Given the description of an element on the screen output the (x, y) to click on. 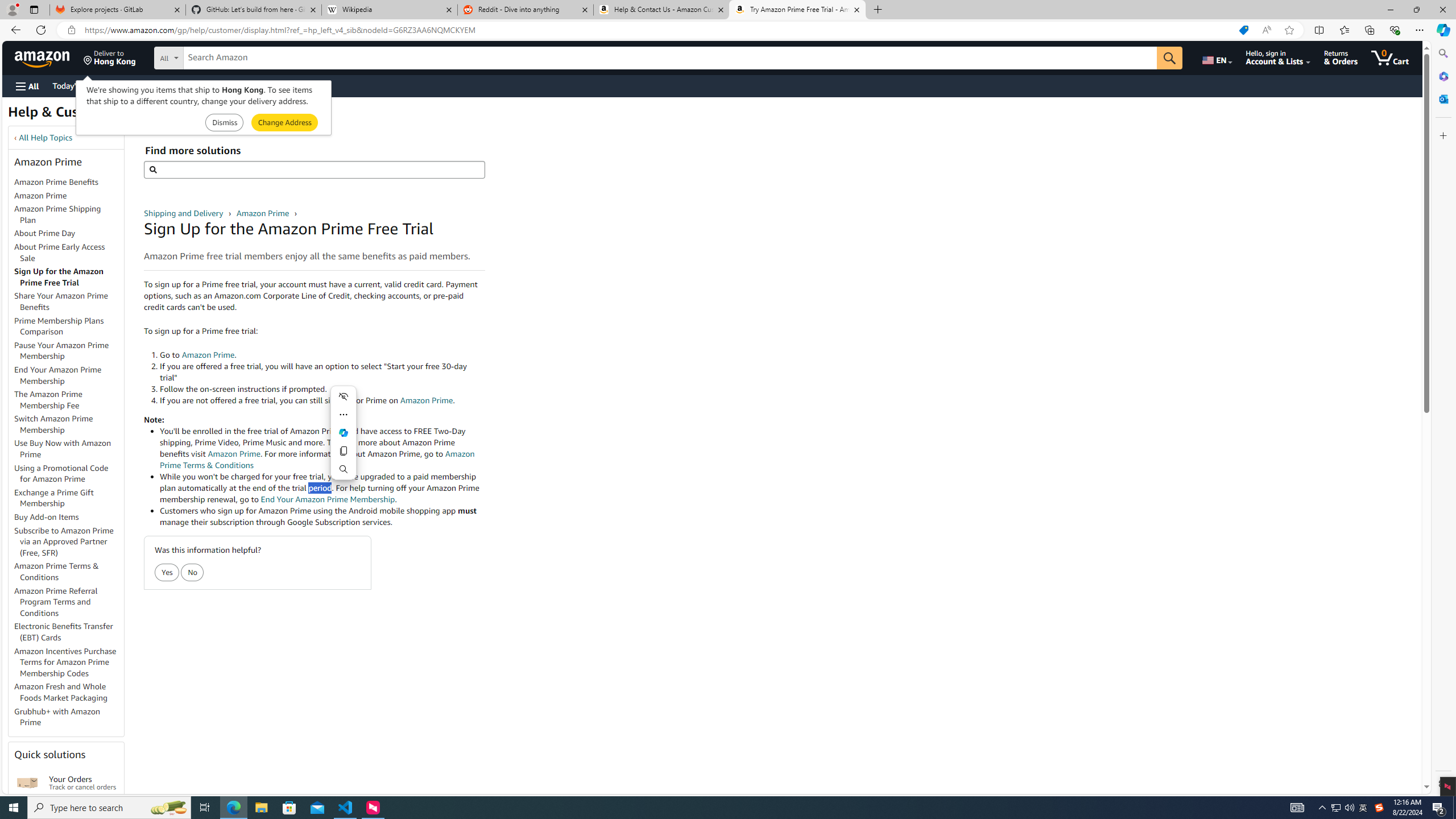
Deliver to Hong Kong (109, 57)
Returns & Orders (1340, 57)
About Prime Day (68, 233)
Amazon (43, 57)
Use Buy Now with Amazon Prime (68, 449)
Using a Promotional Code for Amazon Prime (61, 473)
Your Orders Track or cancel orders (82, 782)
Shipping and Delivery  (184, 213)
Go to Amazon Prime. (322, 354)
Share Your Amazon Prime Benefits (68, 301)
